Given the description of an element on the screen output the (x, y) to click on. 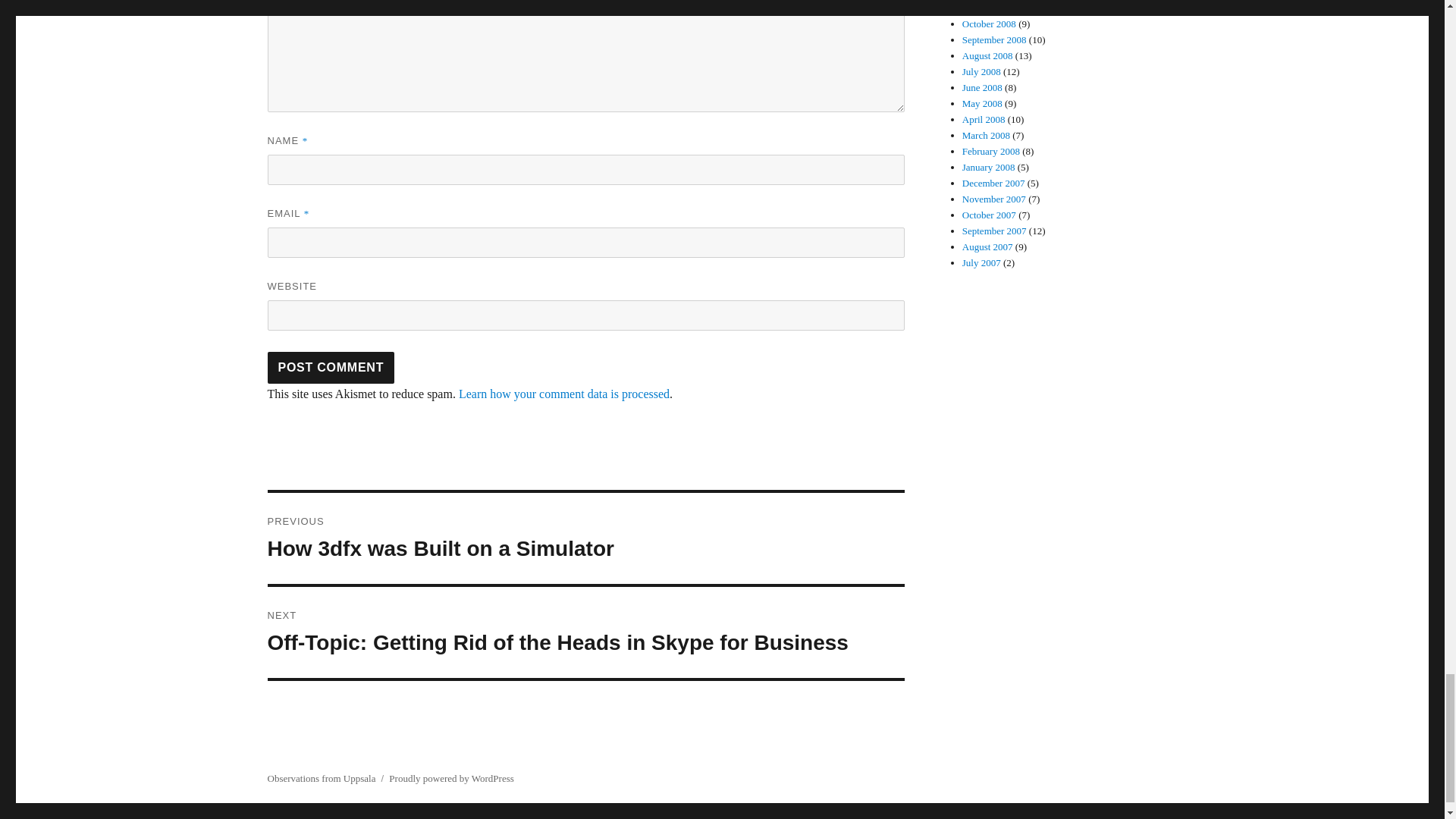
Post Comment (330, 368)
Post Comment (330, 368)
Learn how your comment data is processed (563, 393)
